Given the description of an element on the screen output the (x, y) to click on. 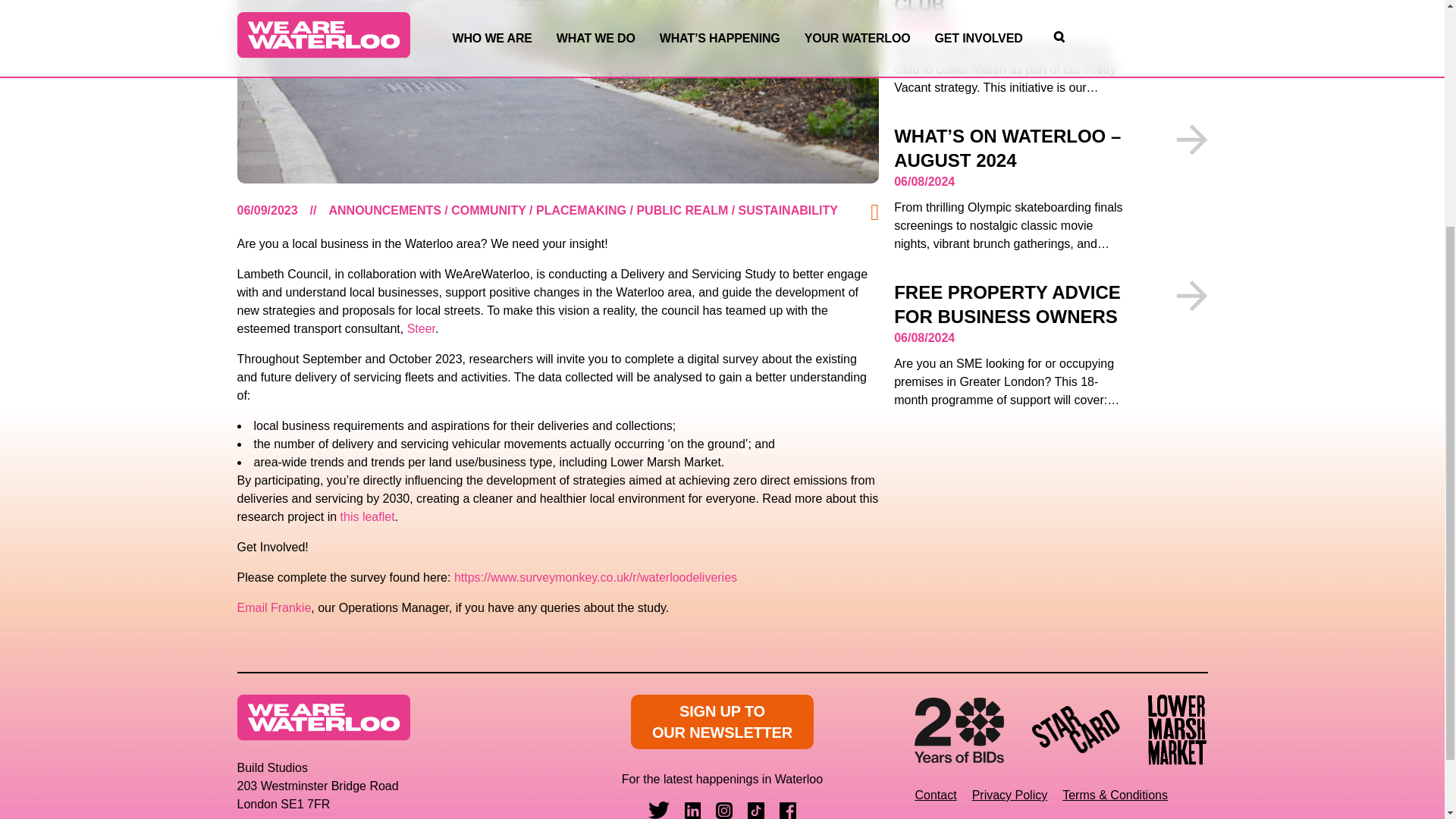
Steer (421, 328)
Email Frankie (273, 607)
this leaflet (367, 516)
